Given the description of an element on the screen output the (x, y) to click on. 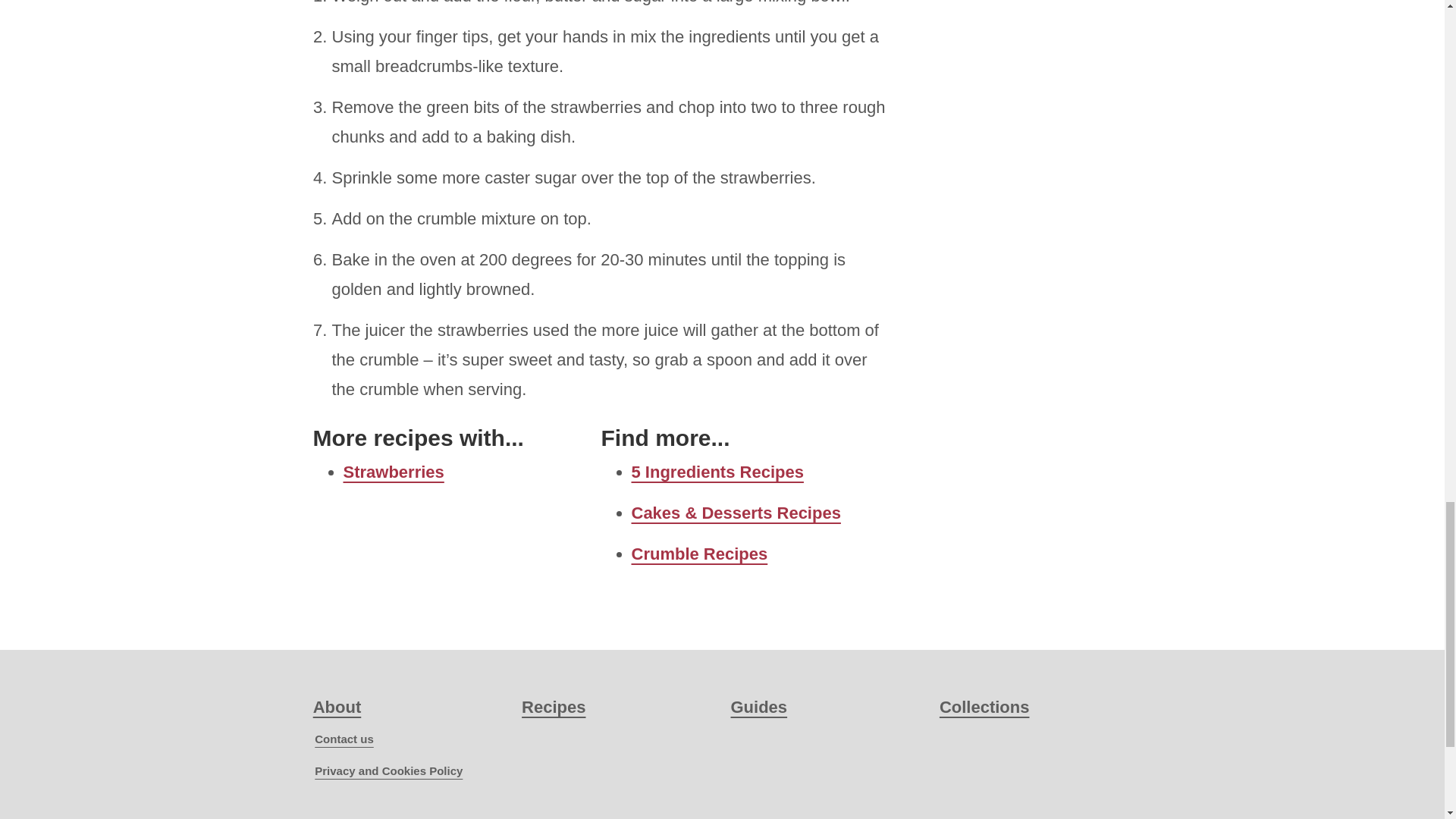
Guides (758, 706)
Privacy and Cookies Policy (388, 770)
Contact us (344, 738)
5 Ingredients Recipes (716, 471)
About (337, 706)
Recipes (553, 706)
Collections (984, 706)
Strawberries (393, 471)
Crumble Recipes (698, 553)
